Given the description of an element on the screen output the (x, y) to click on. 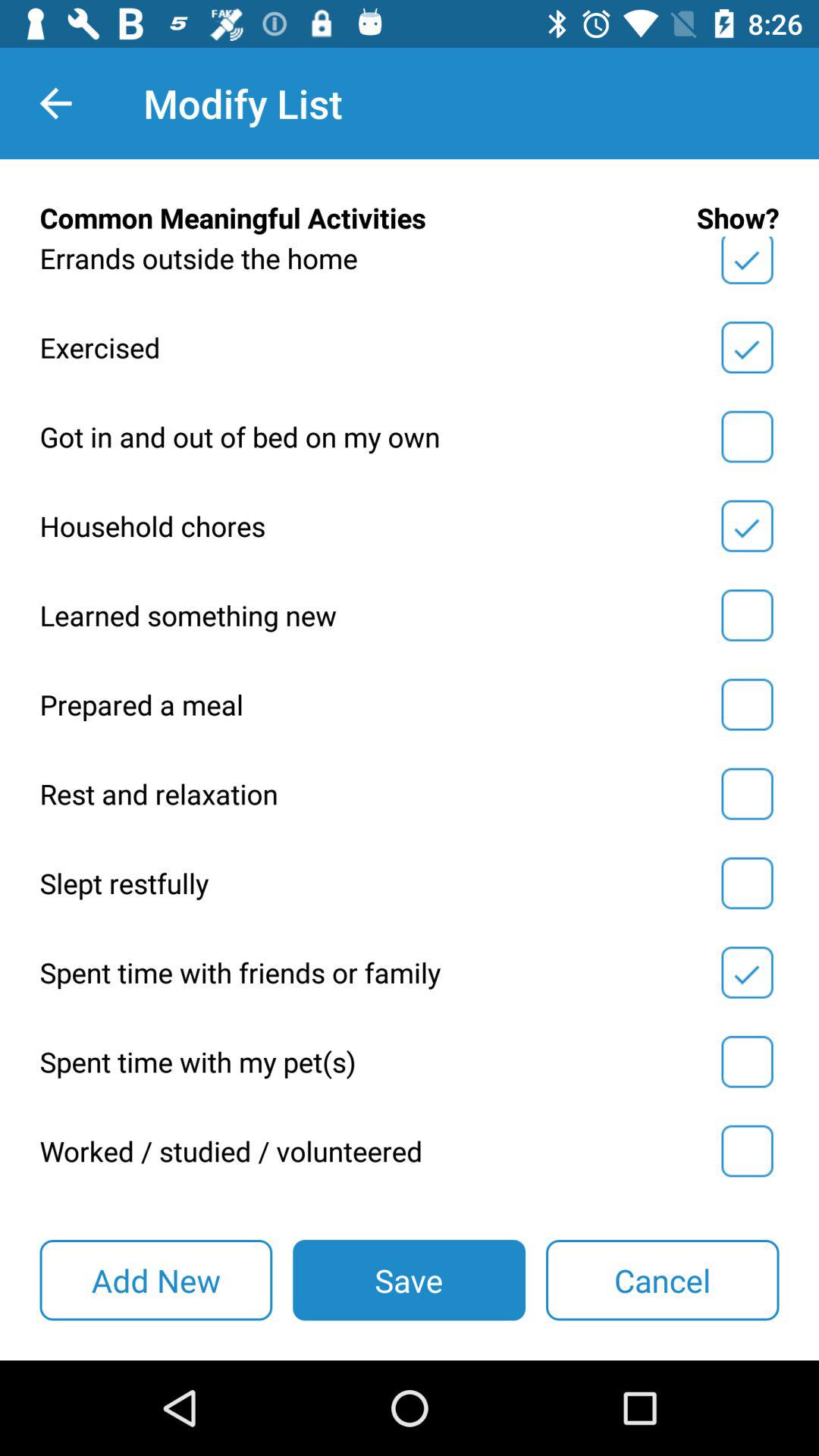
show section toggle (747, 347)
